Given the description of an element on the screen output the (x, y) to click on. 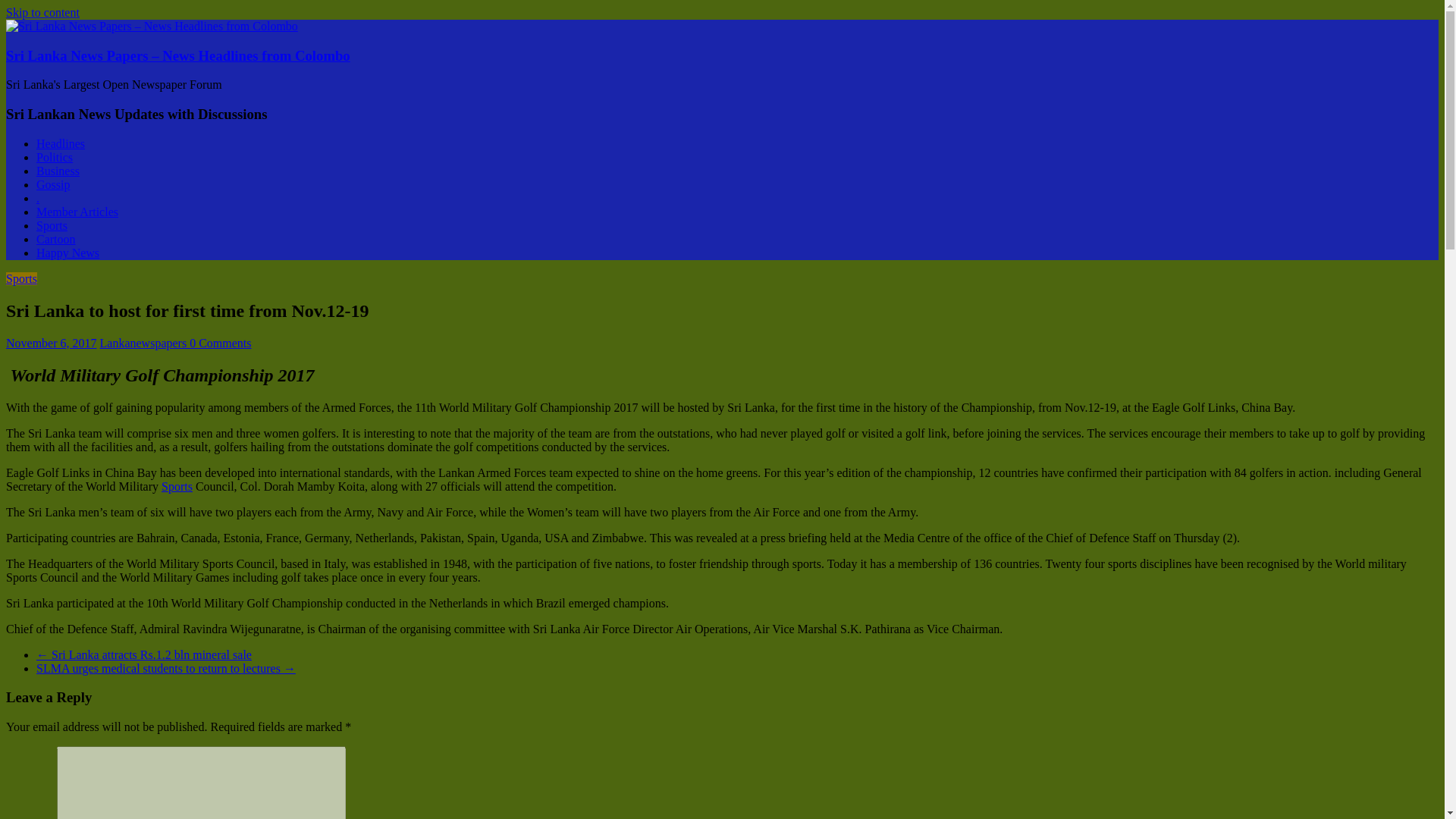
Headlines (60, 143)
Member Articles (76, 211)
November 6, 2017 (51, 342)
0 Comments (219, 342)
Lankanewspapers (145, 342)
Cartoon (55, 238)
Sports (51, 225)
9:47 am (51, 342)
Business (58, 170)
Skip to content (42, 11)
